Given the description of an element on the screen output the (x, y) to click on. 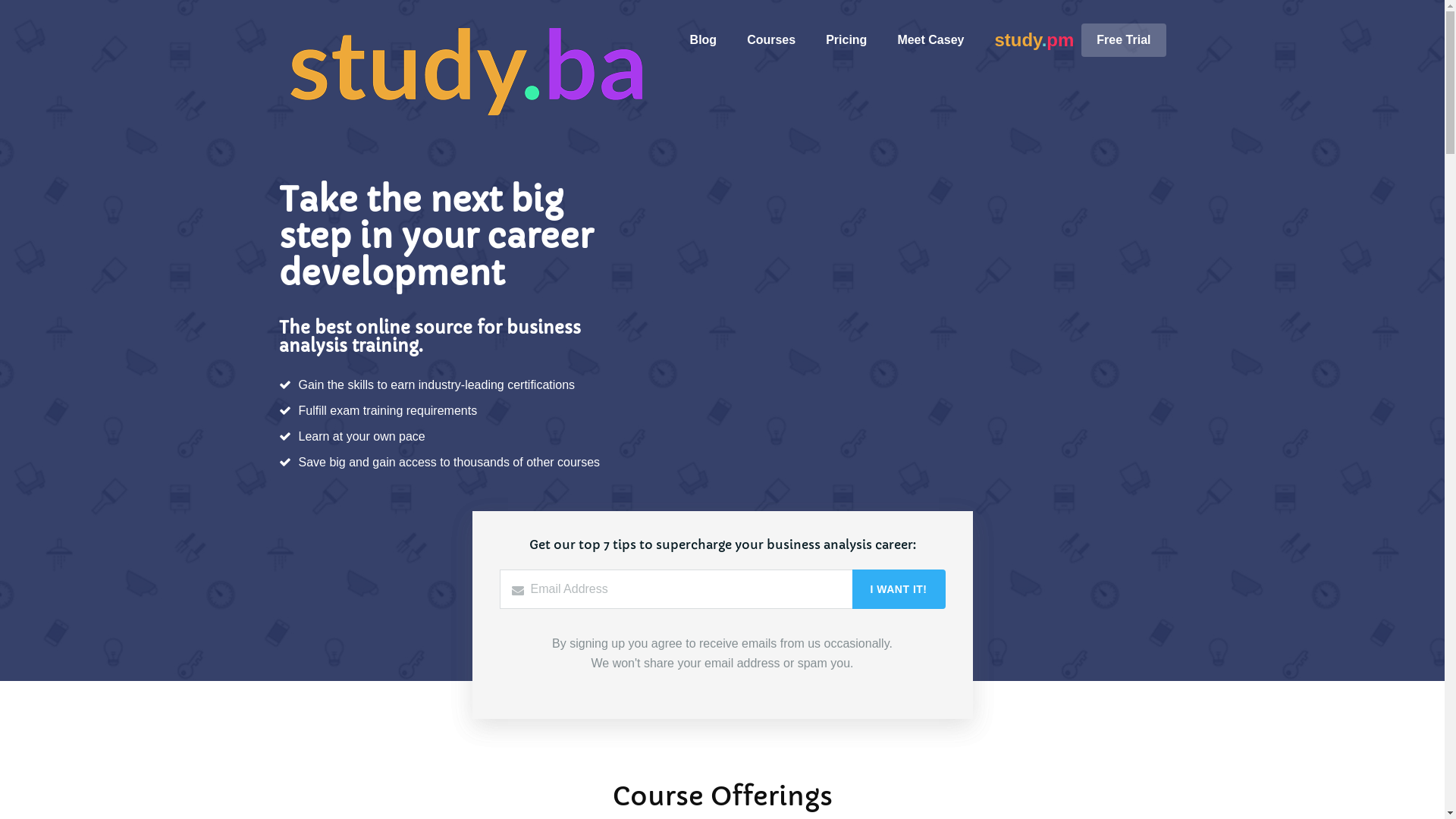
Blog Element type: text (703, 39)
Meet Casey Element type: text (930, 39)
Pricing Element type: text (845, 39)
Free Trial Element type: text (1123, 39)
Courses Element type: text (770, 39)
study.pm Element type: text (1033, 40)
I WANT IT! Element type: text (898, 588)
